Given the description of an element on the screen output the (x, y) to click on. 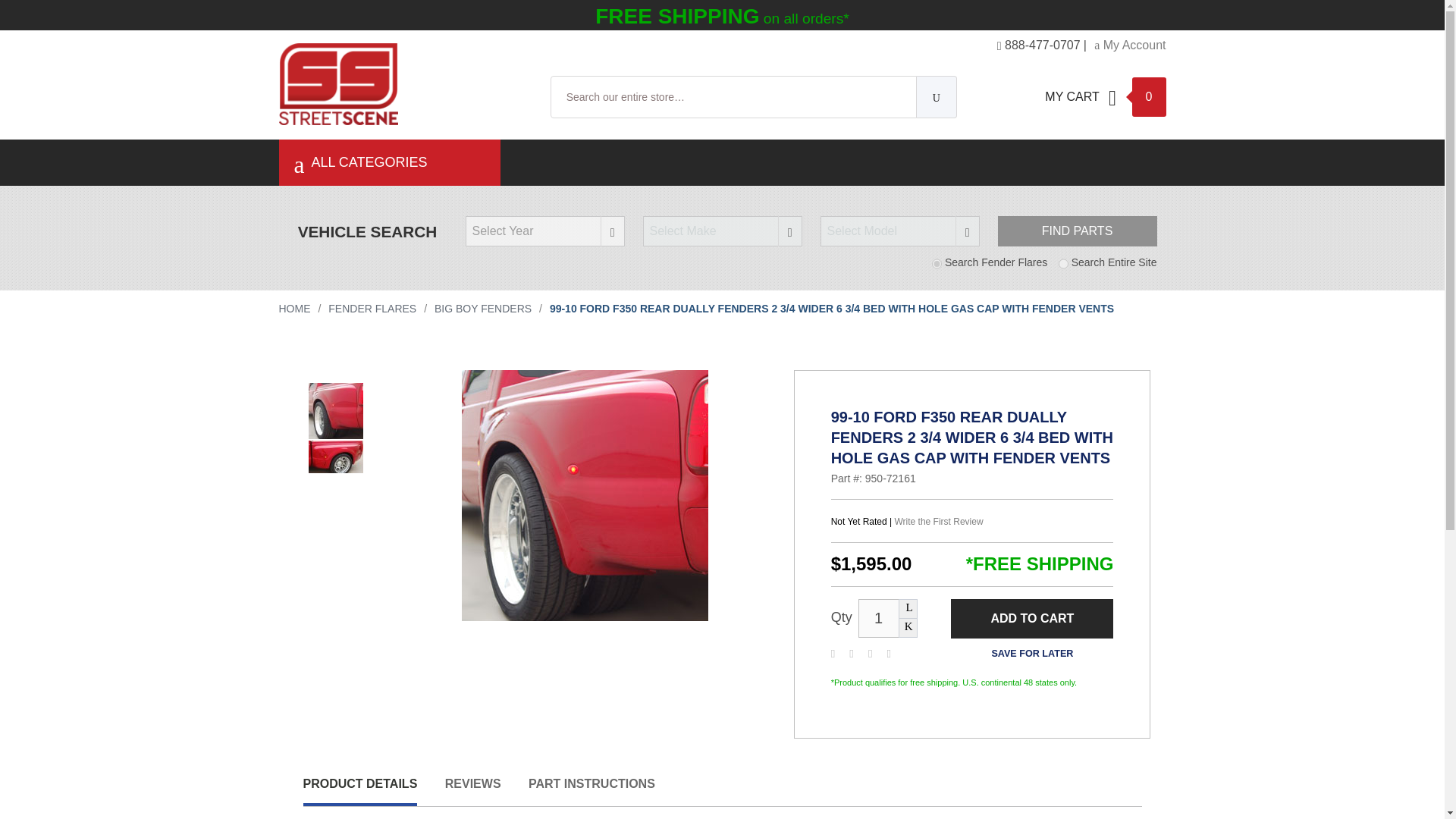
My Account (1130, 44)
MY CART 0 (1105, 96)
1 (879, 618)
Home (295, 308)
SAVE FOR LATER (1031, 653)
ALL CATEGORIES (397, 162)
streetsceneeq.com (405, 100)
Big Boy Fenders (482, 308)
Fender Flares (372, 308)
Search (936, 96)
Search (936, 96)
